Given the description of an element on the screen output the (x, y) to click on. 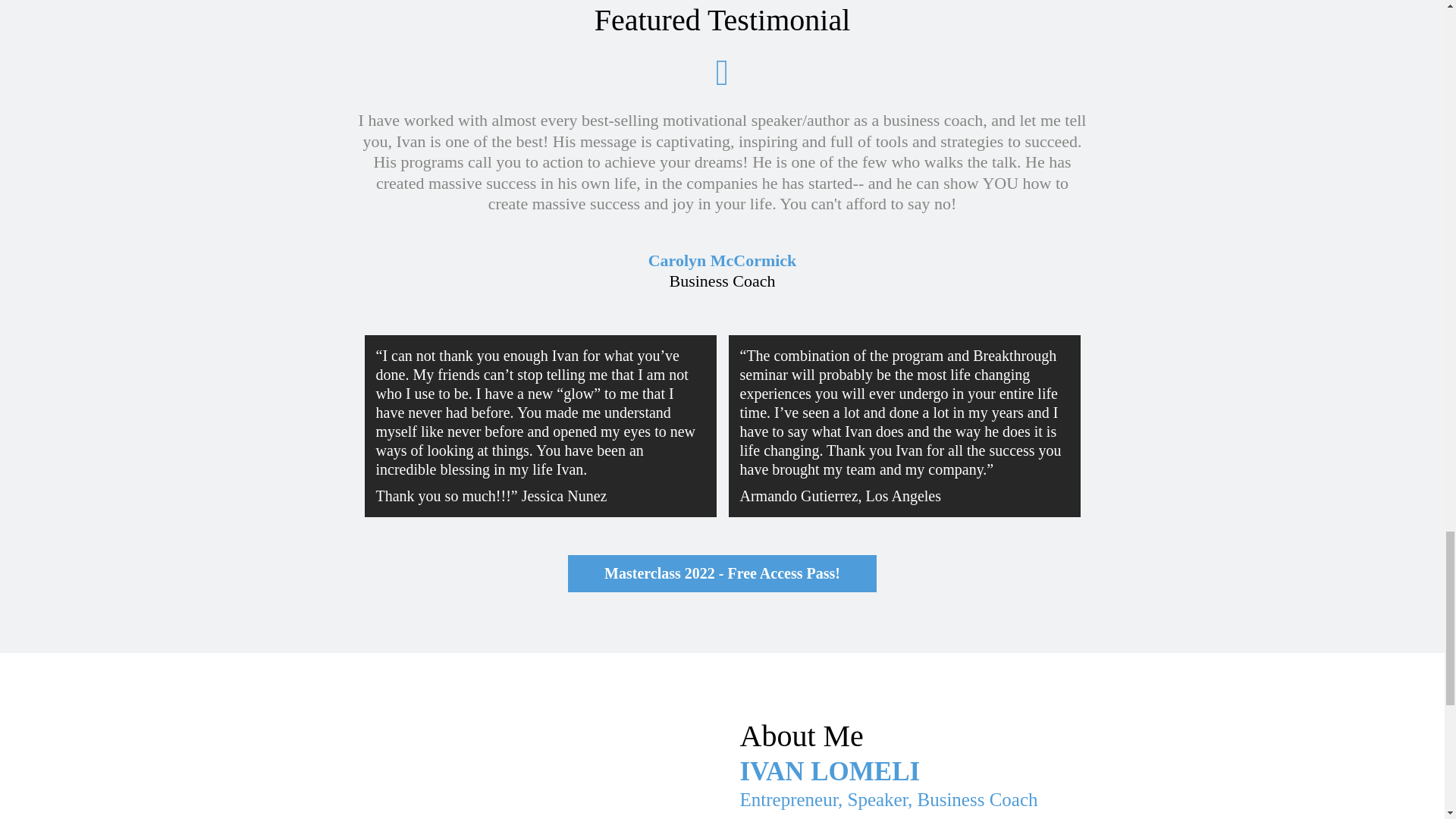
Masterclass 2022 - Free Access Pass! (721, 573)
